Given the description of an element on the screen output the (x, y) to click on. 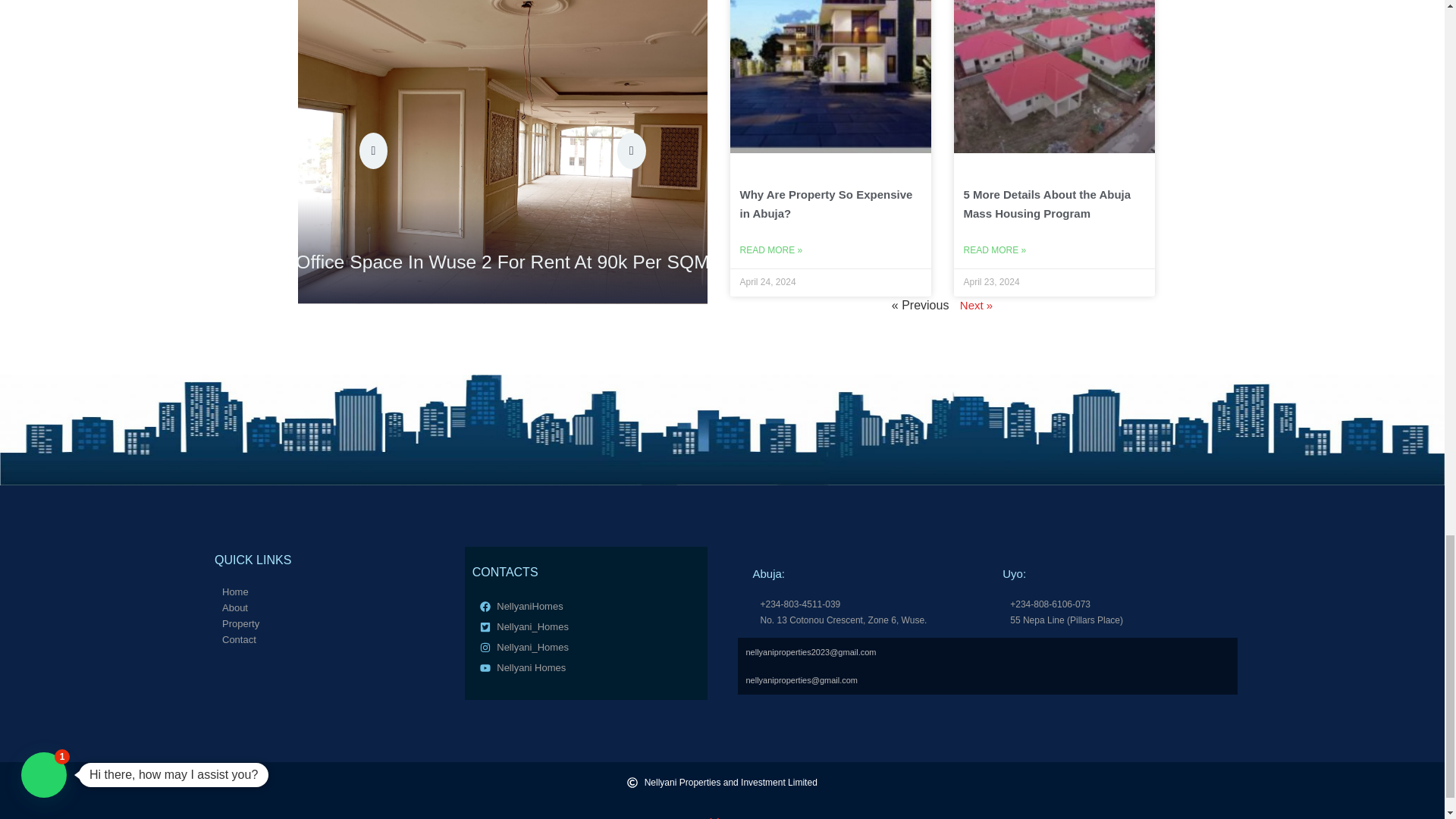
Why Are Property So Expensive in Abuja? (825, 204)
Office Space in Wuse 2 for Rent at 90k per SQM (454, 259)
Office Space In Wuse 2 For Rent At 90k Per SQM (454, 259)
5 More Details About the Abuja Mass Housing Program (1046, 204)
